Given the description of an element on the screen output the (x, y) to click on. 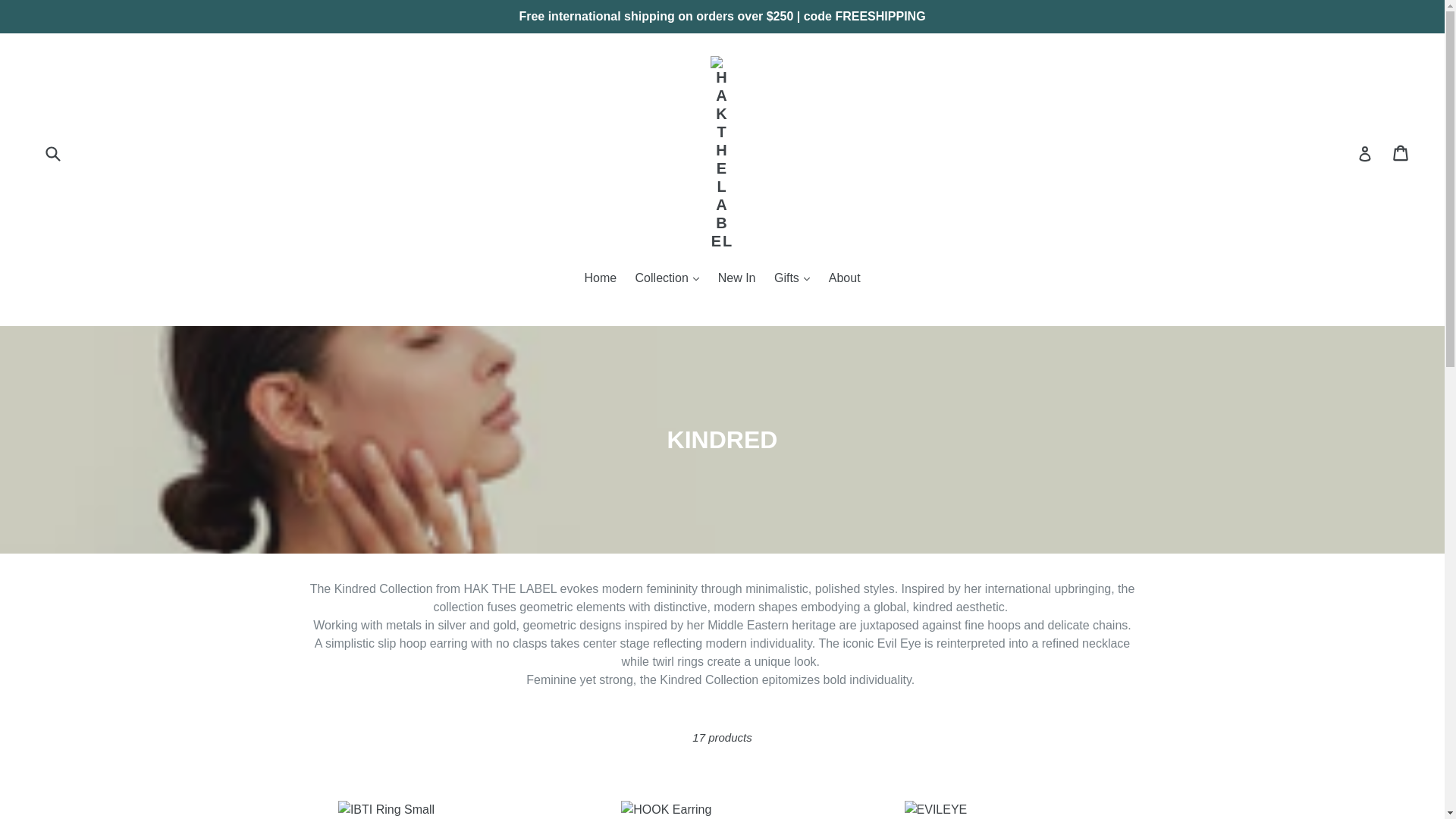
Submit (52, 152)
Log in (1401, 152)
Home (1364, 153)
